Given the description of an element on the screen output the (x, y) to click on. 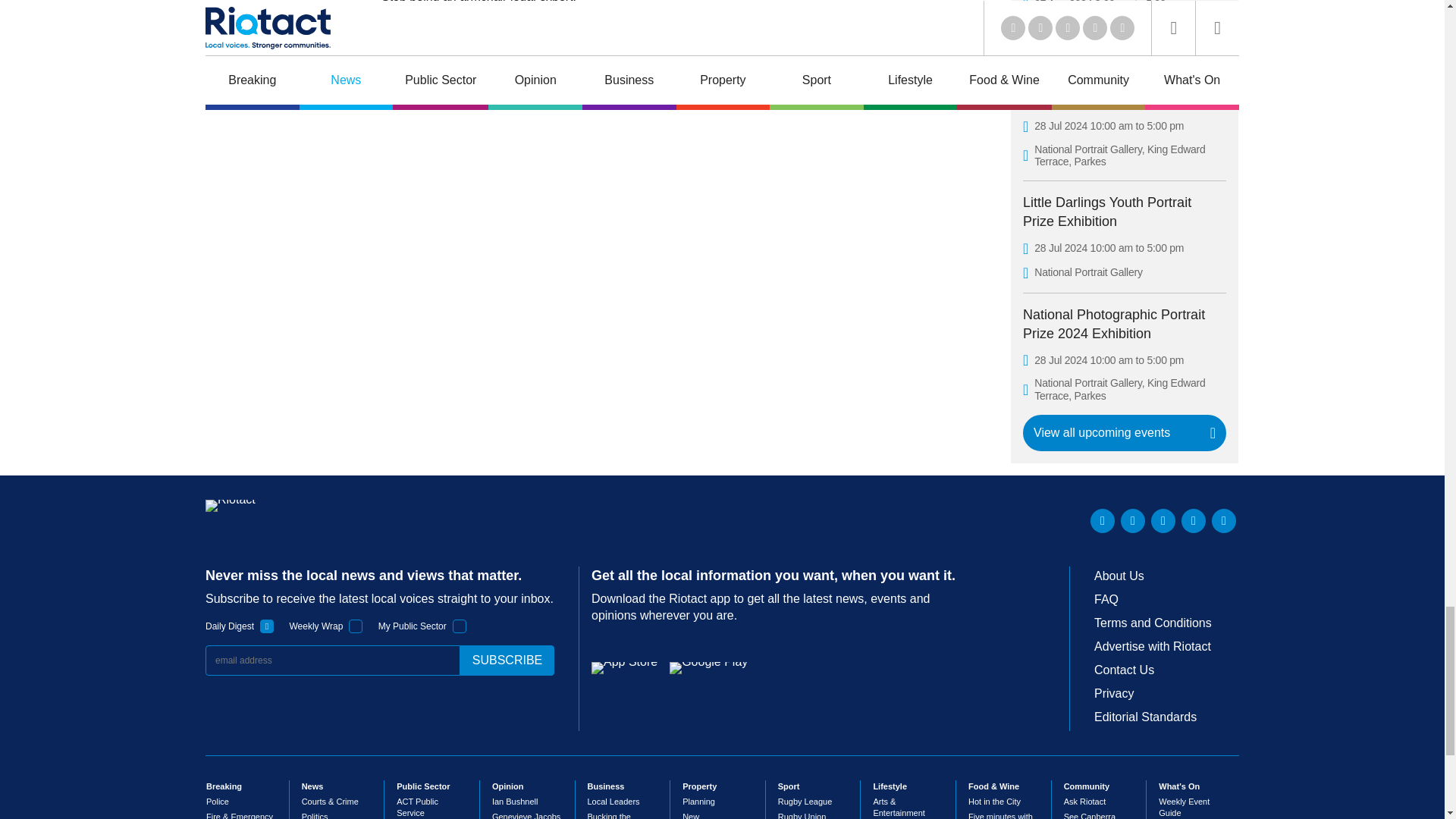
1 (266, 626)
1 (458, 626)
LinkedIn (1102, 520)
subscribe (507, 660)
1 (355, 626)
